Given the description of an element on the screen output the (x, y) to click on. 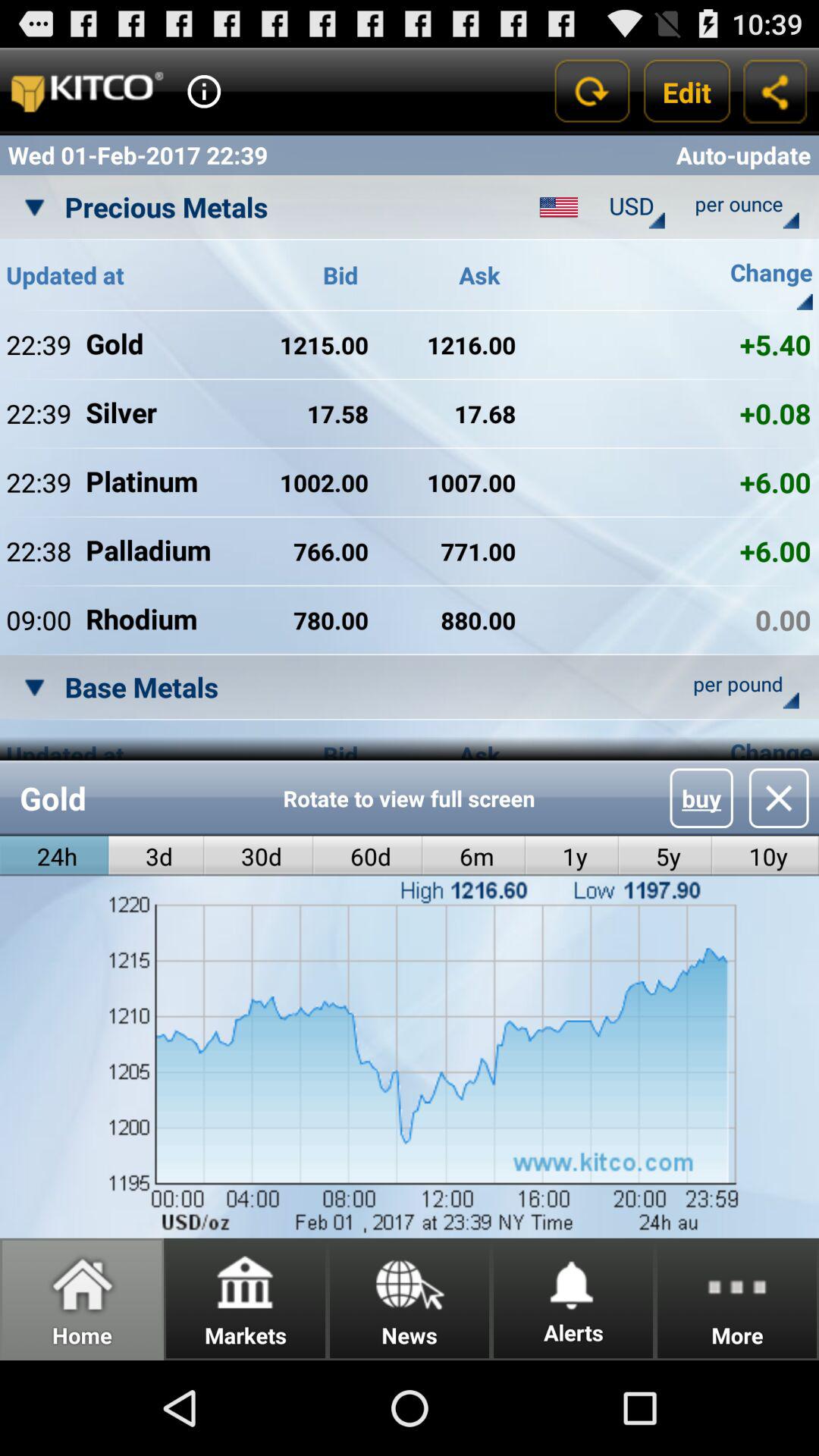
information button (204, 91)
